Given the description of an element on the screen output the (x, y) to click on. 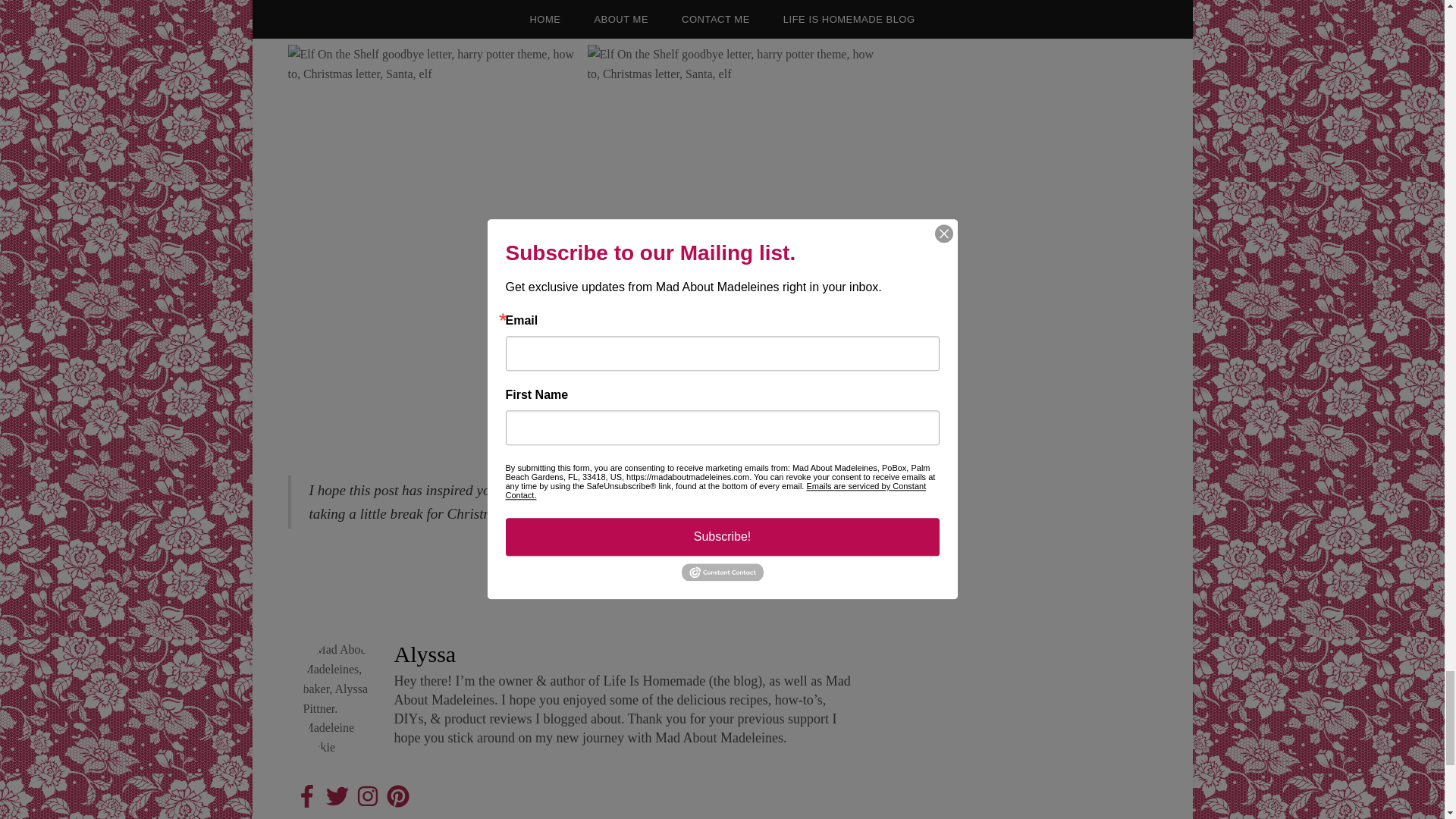
Twitter (337, 795)
Facebook (306, 795)
Pinterest (398, 795)
Instagram (367, 795)
Alyssa (425, 653)
